Given the description of an element on the screen output the (x, y) to click on. 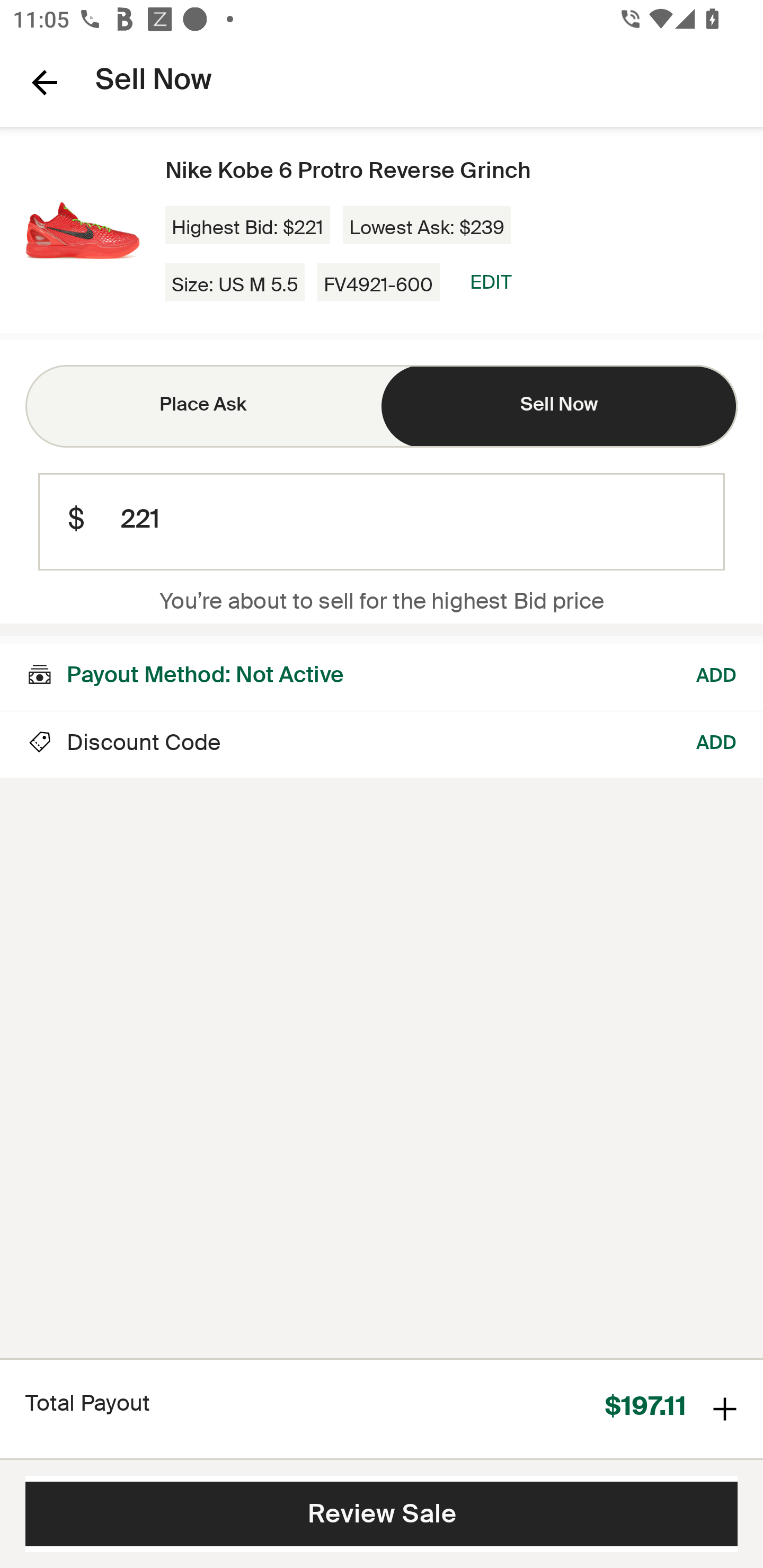
EDIT (490, 281)
Place Ask (203, 405)
Sell Now (559, 405)
221 $ (381, 521)
ADD (717, 673)
Discount icon Discount Code (123, 744)
ADD (717, 744)
Total Payout $197.11 Total Payout plus icon (381, 1407)
reviewButtonContentDescriptionID Review Sale (381, 1513)
